Given the description of an element on the screen output the (x, y) to click on. 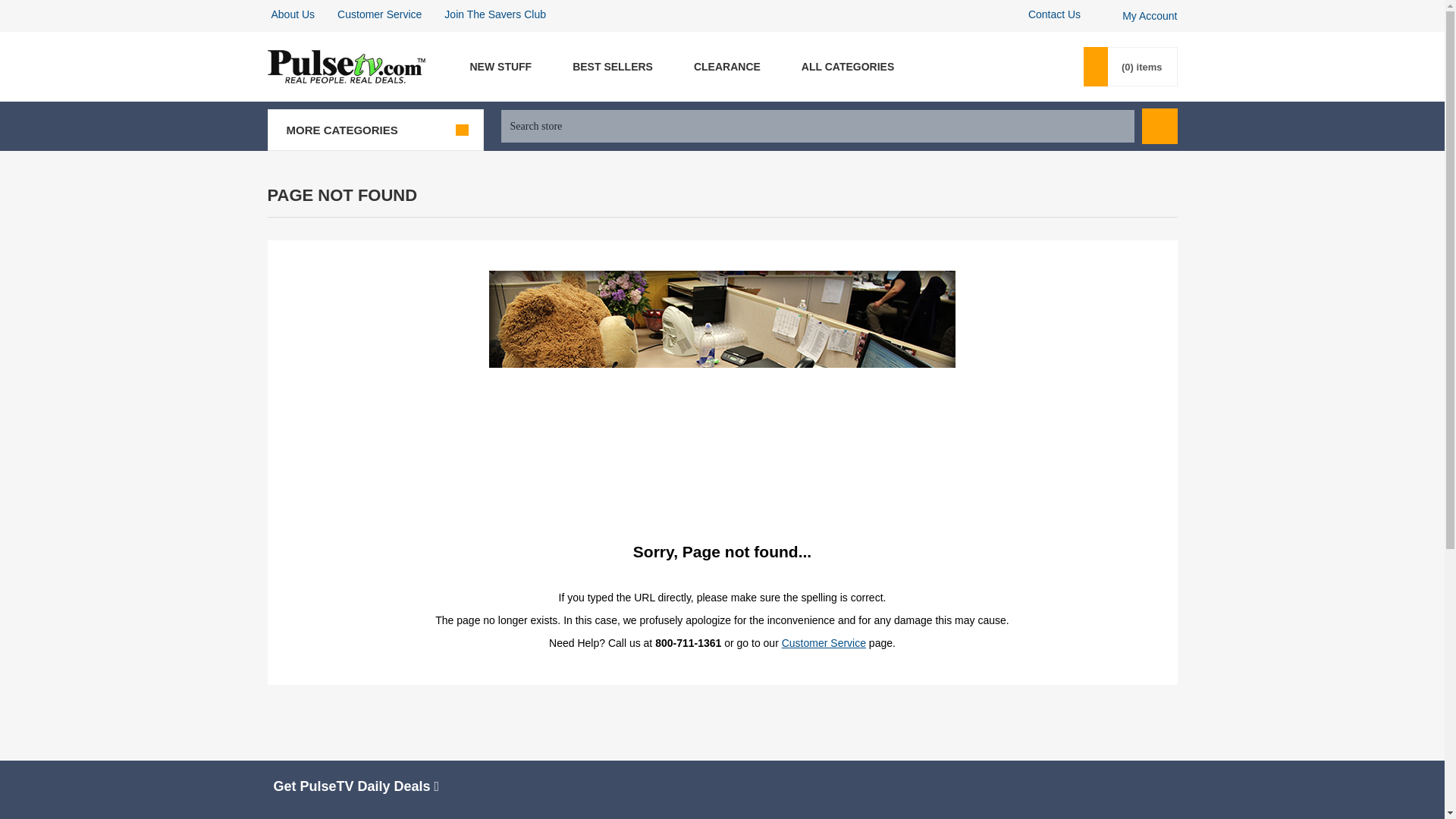
ALL CATEGORIES (847, 66)
About Us (292, 14)
All Categories (847, 66)
New Stuff (499, 66)
BEST SELLERS (611, 66)
CLEARANCE (726, 66)
Contact Us (1053, 14)
Customer Service (379, 14)
Best Sellers (611, 66)
NEW STUFF (499, 66)
